Given the description of an element on the screen output the (x, y) to click on. 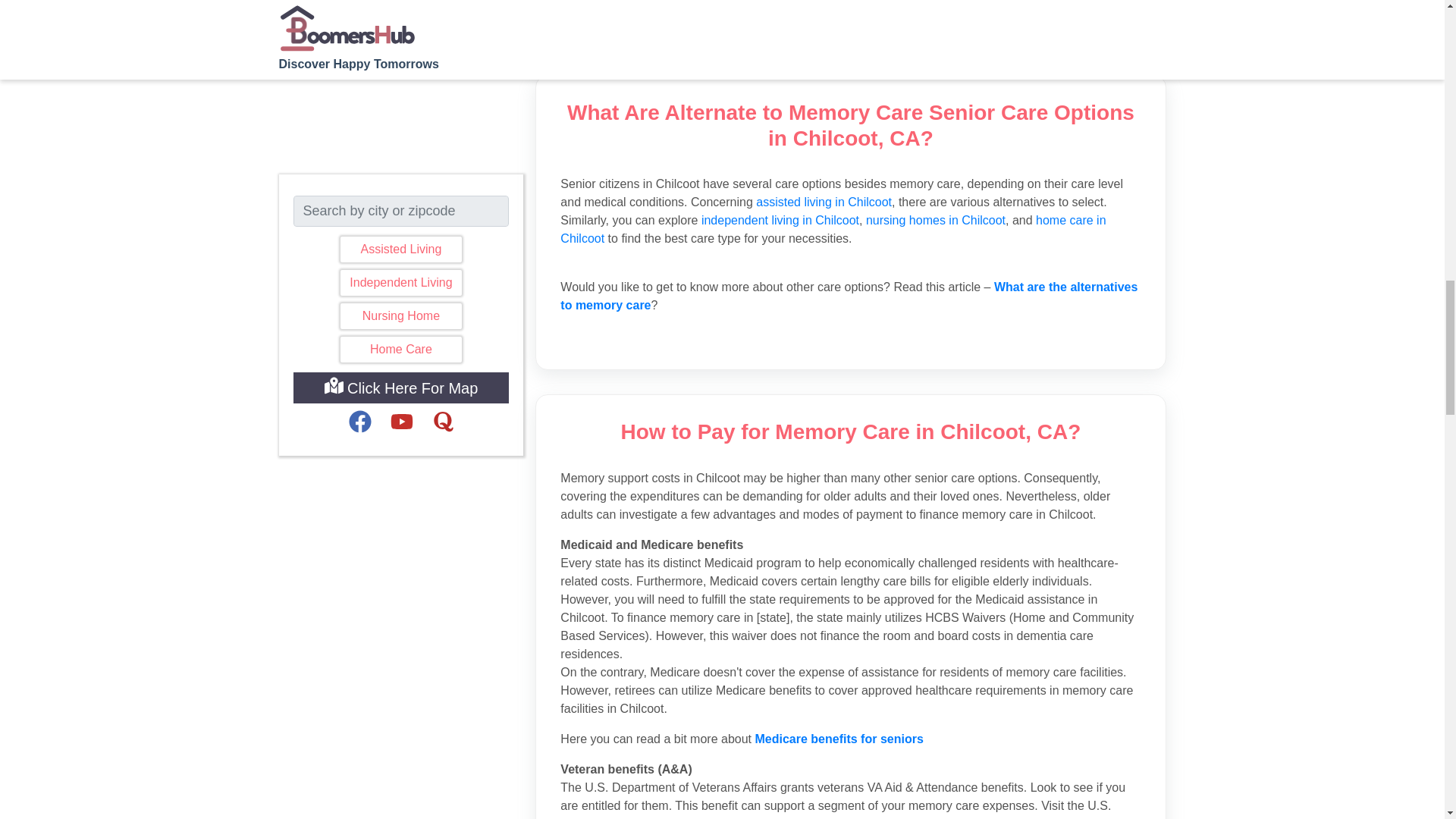
independent living in Chilcoot (780, 219)
assisted living in Chilcoot (823, 201)
Medicare benefits for seniors (839, 738)
nursing homes in Chilcoot (936, 219)
home care in Chilcoot (832, 228)
What are the alternatives to memory care (848, 296)
